Given the description of an element on the screen output the (x, y) to click on. 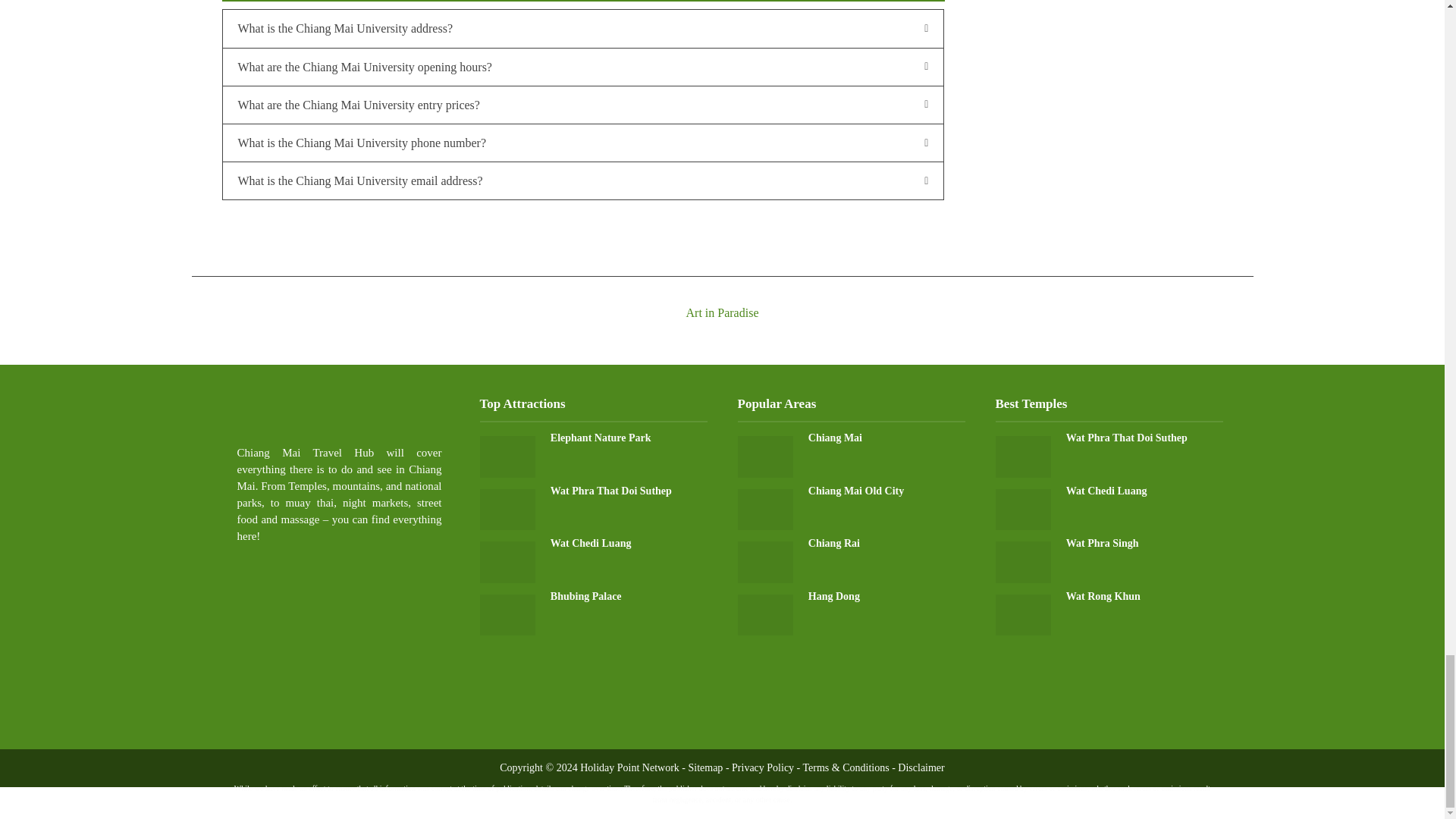
Art in Paradise (721, 299)
